Given the description of an element on the screen output the (x, y) to click on. 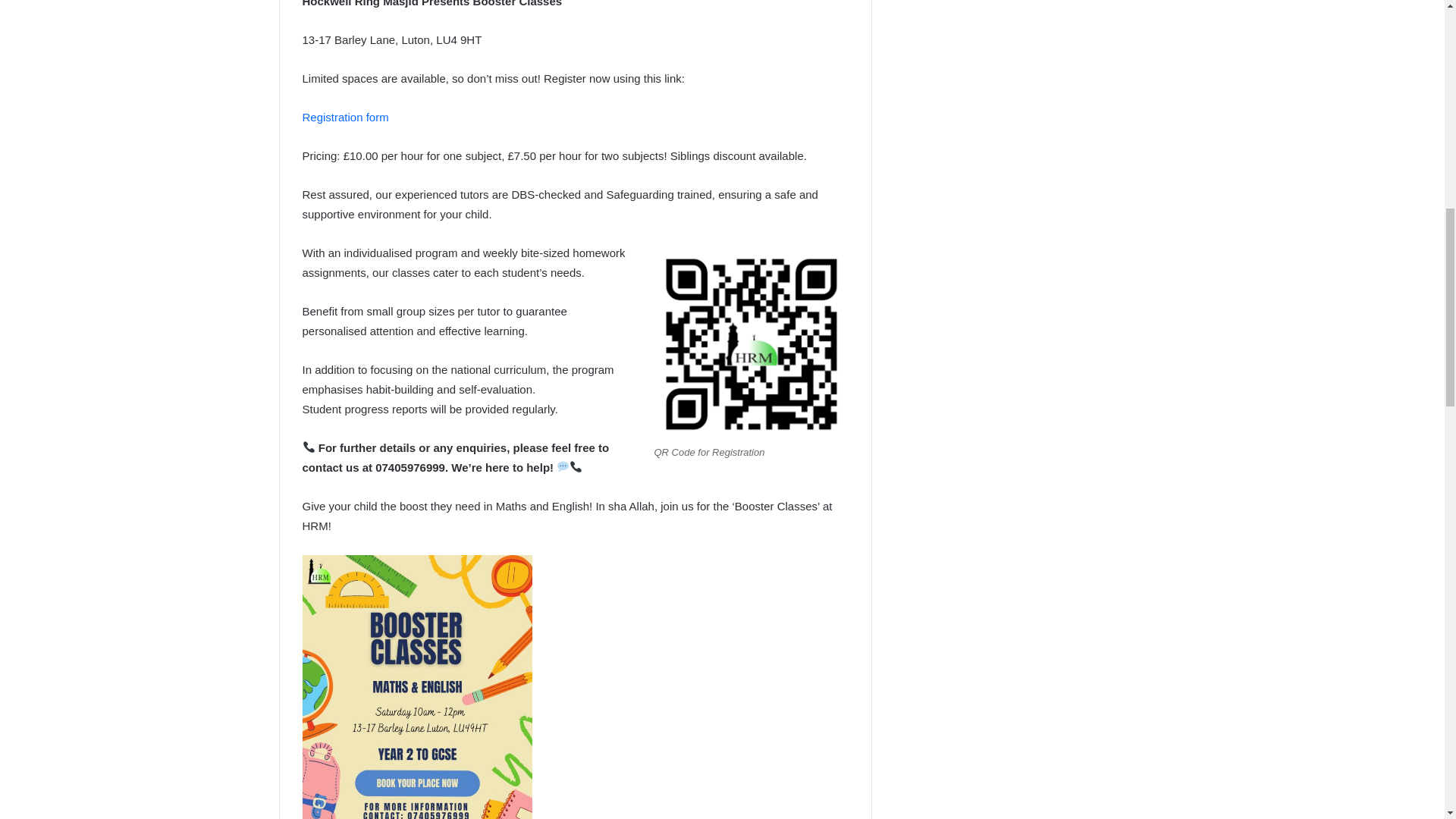
Registration form (344, 116)
